Given the description of an element on the screen output the (x, y) to click on. 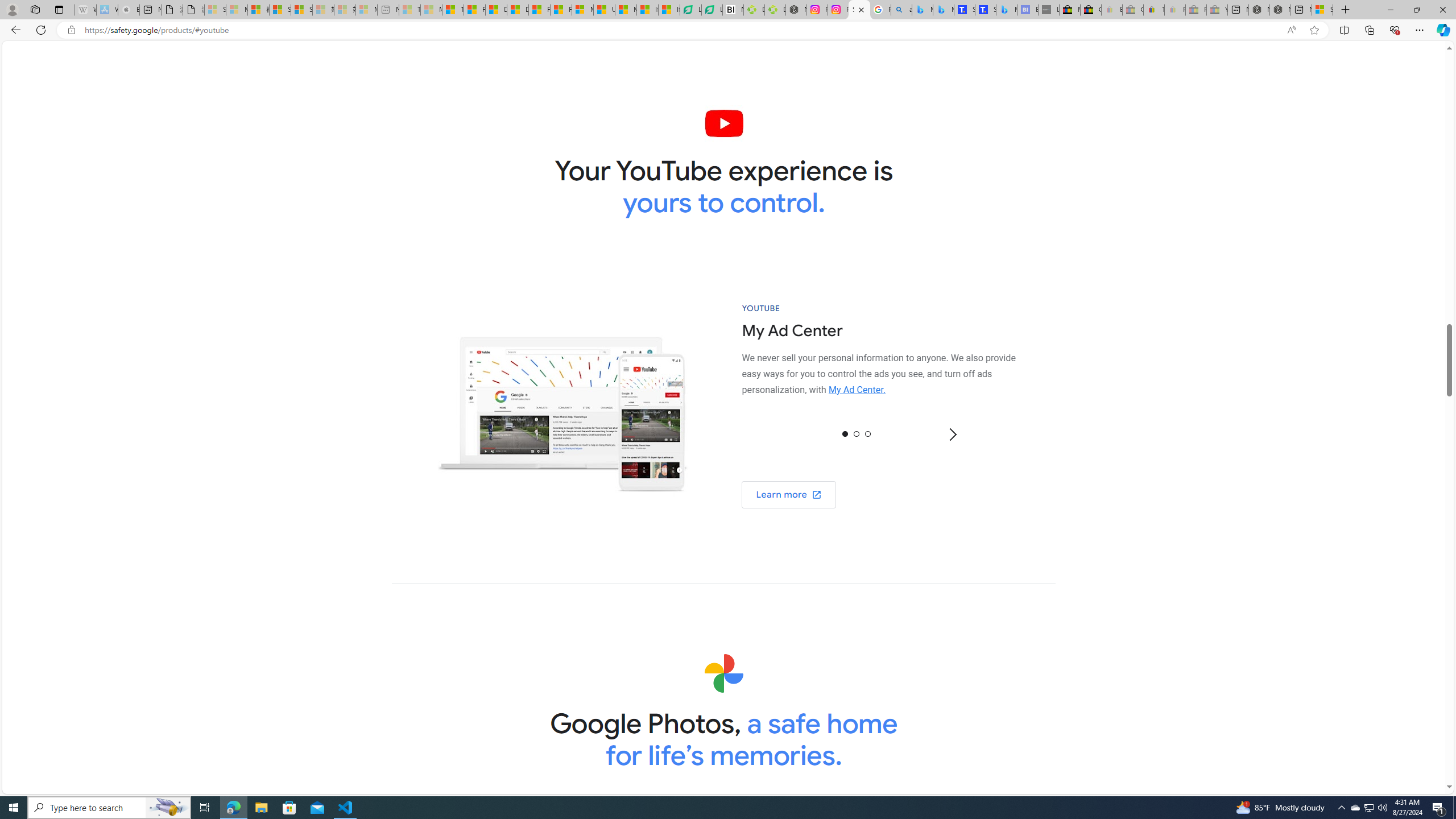
Threats and offensive language policy | eBay (1153, 9)
Microsoft Bing Travel - Flights from Hong Kong to Bangkok (922, 9)
Top Stories - MSN - Sleeping (409, 9)
2 (867, 433)
The Photos logo (723, 672)
The YouTube logo (724, 122)
